Given the description of an element on the screen output the (x, y) to click on. 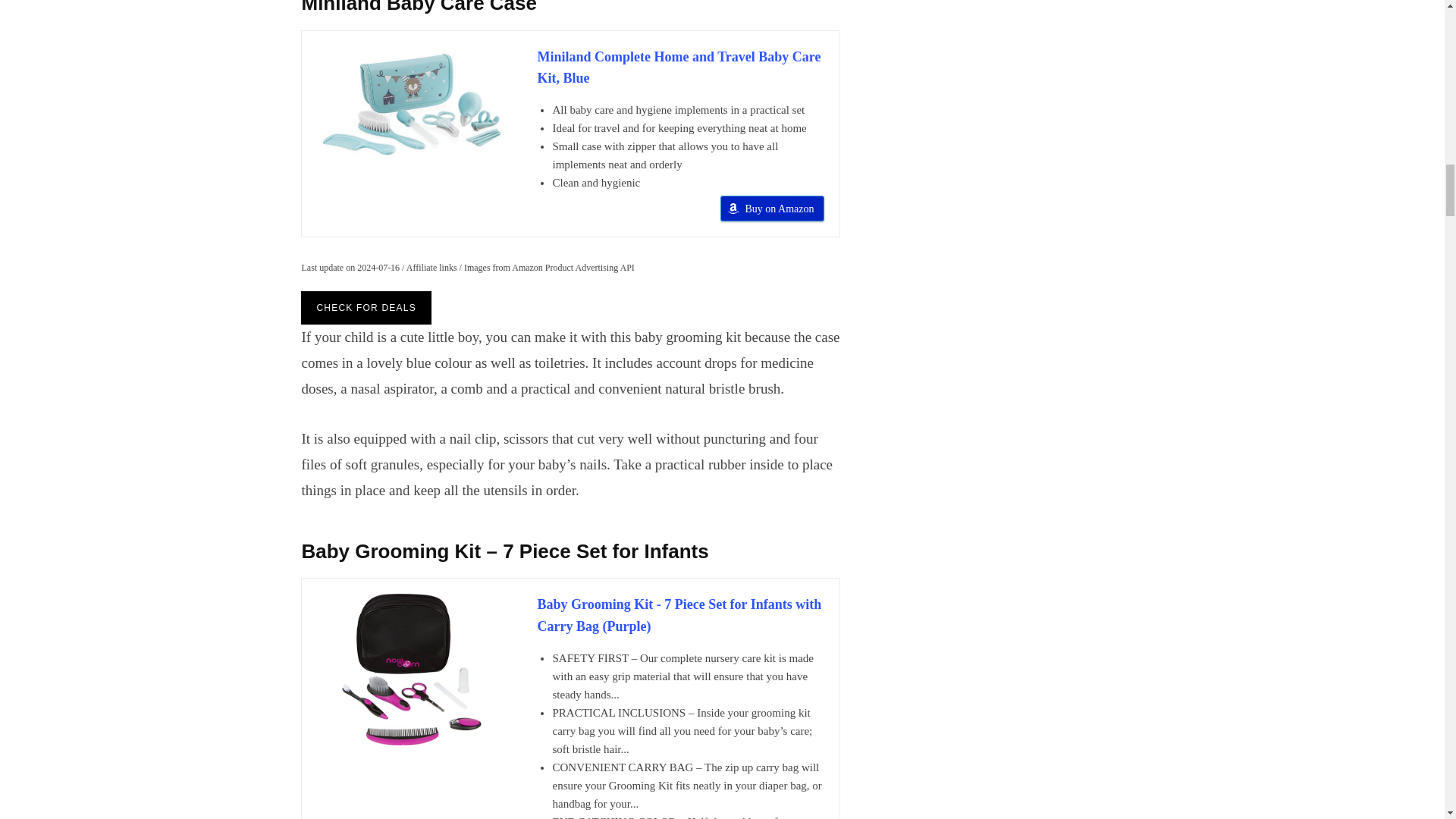
Miniland Complete Home and Travel Baby Care Kit, Blue (680, 67)
Buy on Amazon (772, 208)
Miniland Complete Home and Travel Baby Care Kit, Blue (411, 103)
